Given the description of an element on the screen output the (x, y) to click on. 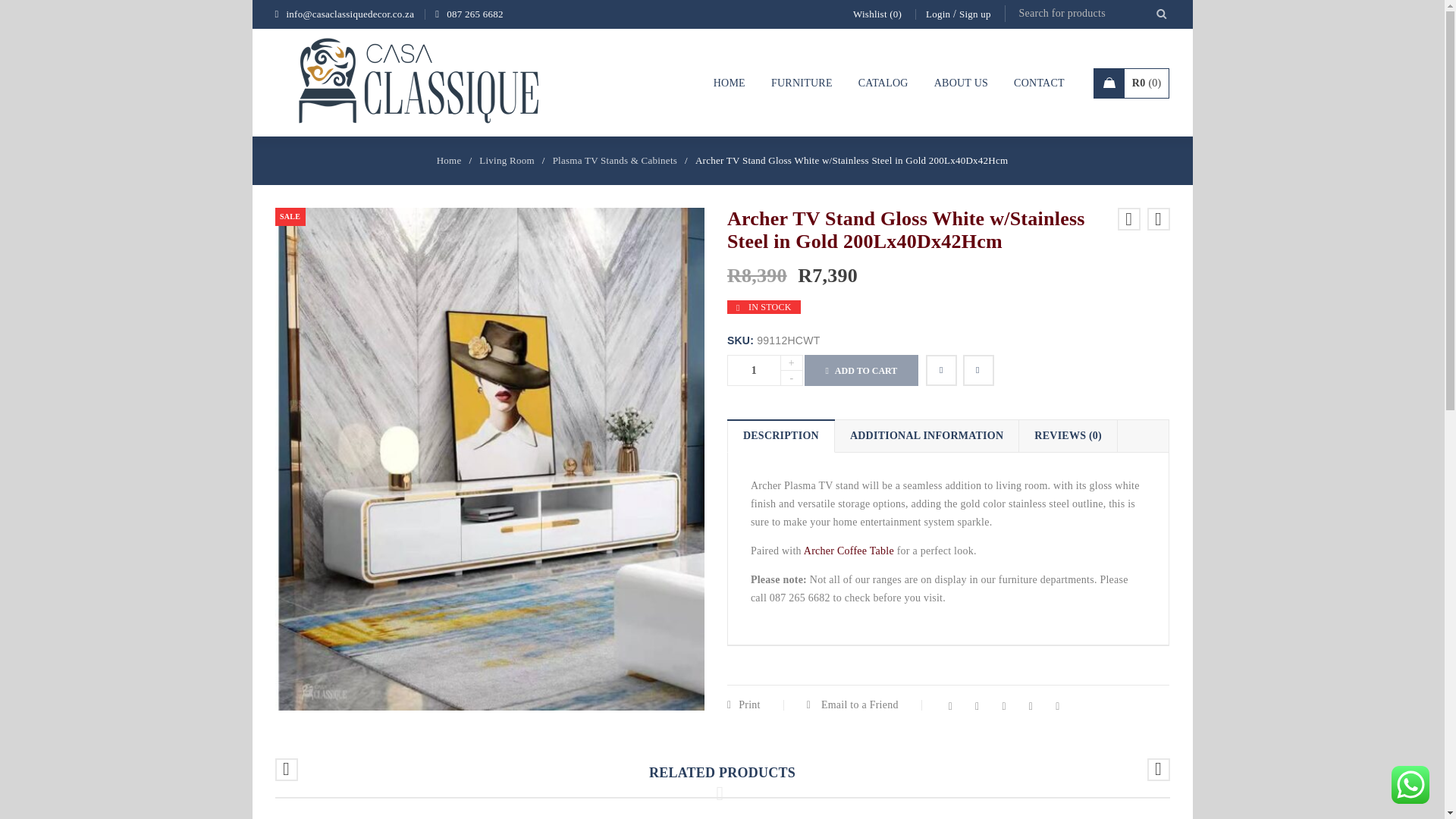
Create New Account (975, 13)
CASA Classique Decor (418, 82)
- (791, 377)
Login (938, 13)
Search (1160, 12)
Search (1160, 12)
Wishlist (877, 13)
Login (938, 13)
Sign up (975, 13)
1 (753, 369)
View your shopping bag (1131, 82)
